Given the description of an element on the screen output the (x, y) to click on. 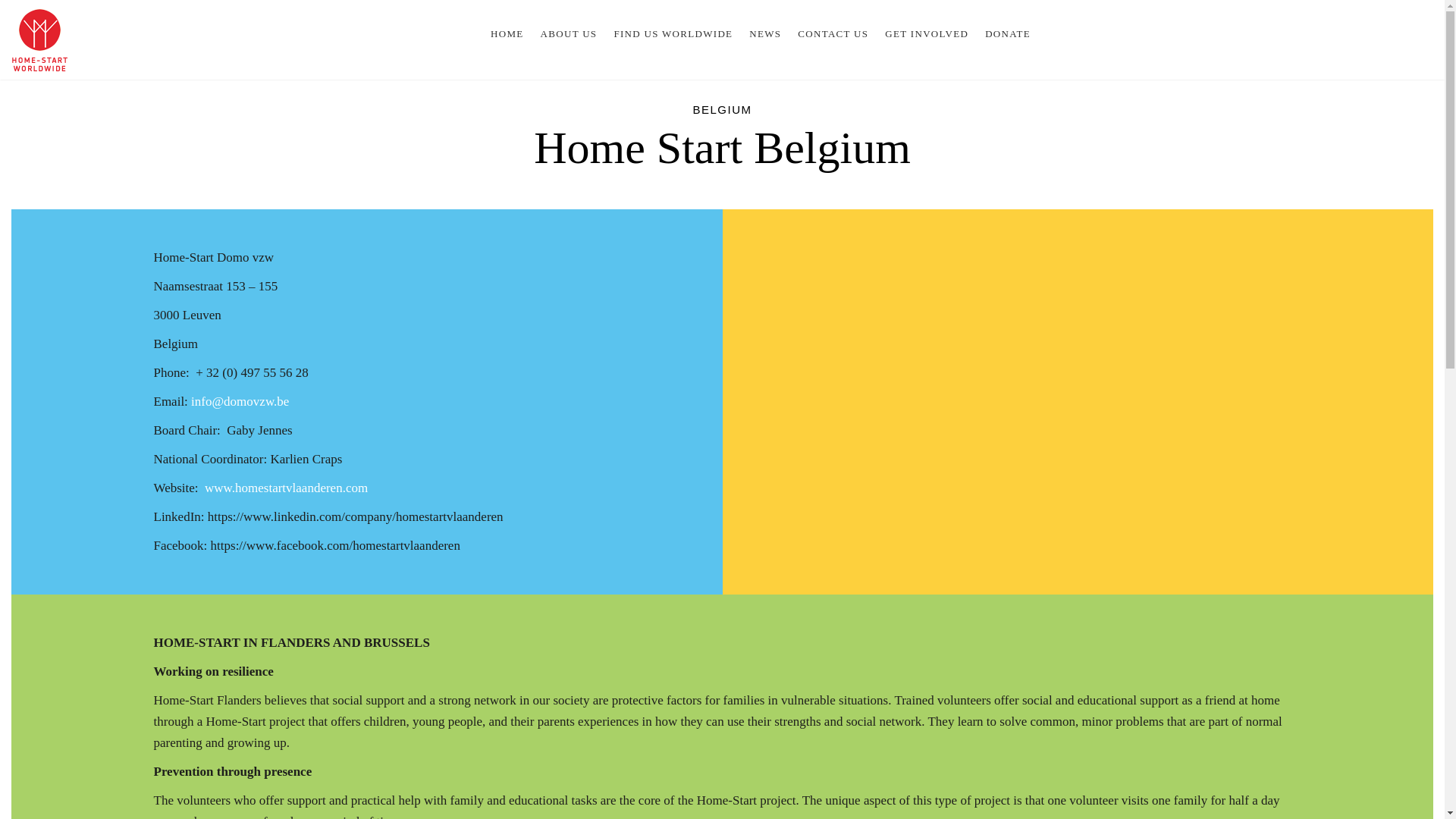
DONATE (1007, 32)
ABOUT US (568, 32)
CONTACT US (832, 32)
GET INVOLVED (926, 32)
www.homestartvlaanderen.com (286, 487)
FIND US WORLDWIDE (672, 32)
Donate (1007, 32)
NEWS (764, 32)
ABOUT US (568, 32)
Homestart Worldwide - Homestart Worldwide (39, 40)
GET INVOLVED (926, 32)
FIND US WORLDWIDE (672, 32)
Home (506, 32)
HOME (506, 32)
NEWS (764, 32)
